Given the description of an element on the screen output the (x, y) to click on. 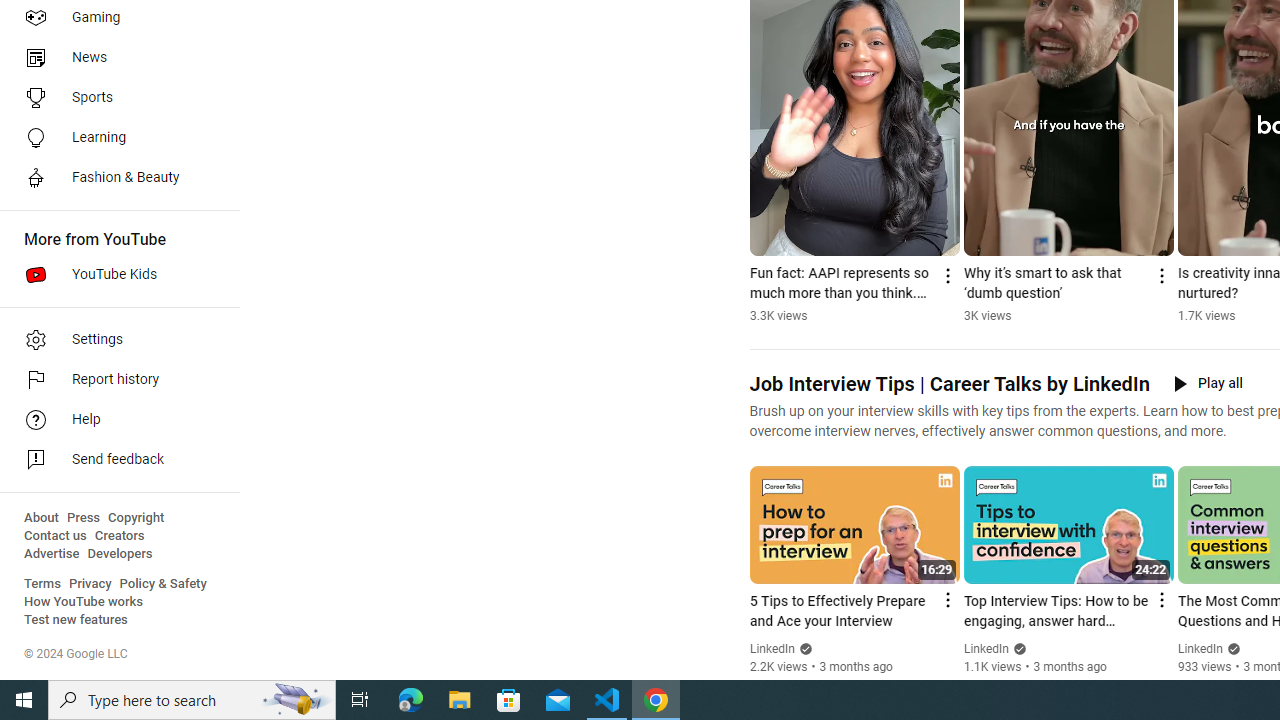
Help (113, 419)
